Given the description of an element on the screen output the (x, y) to click on. 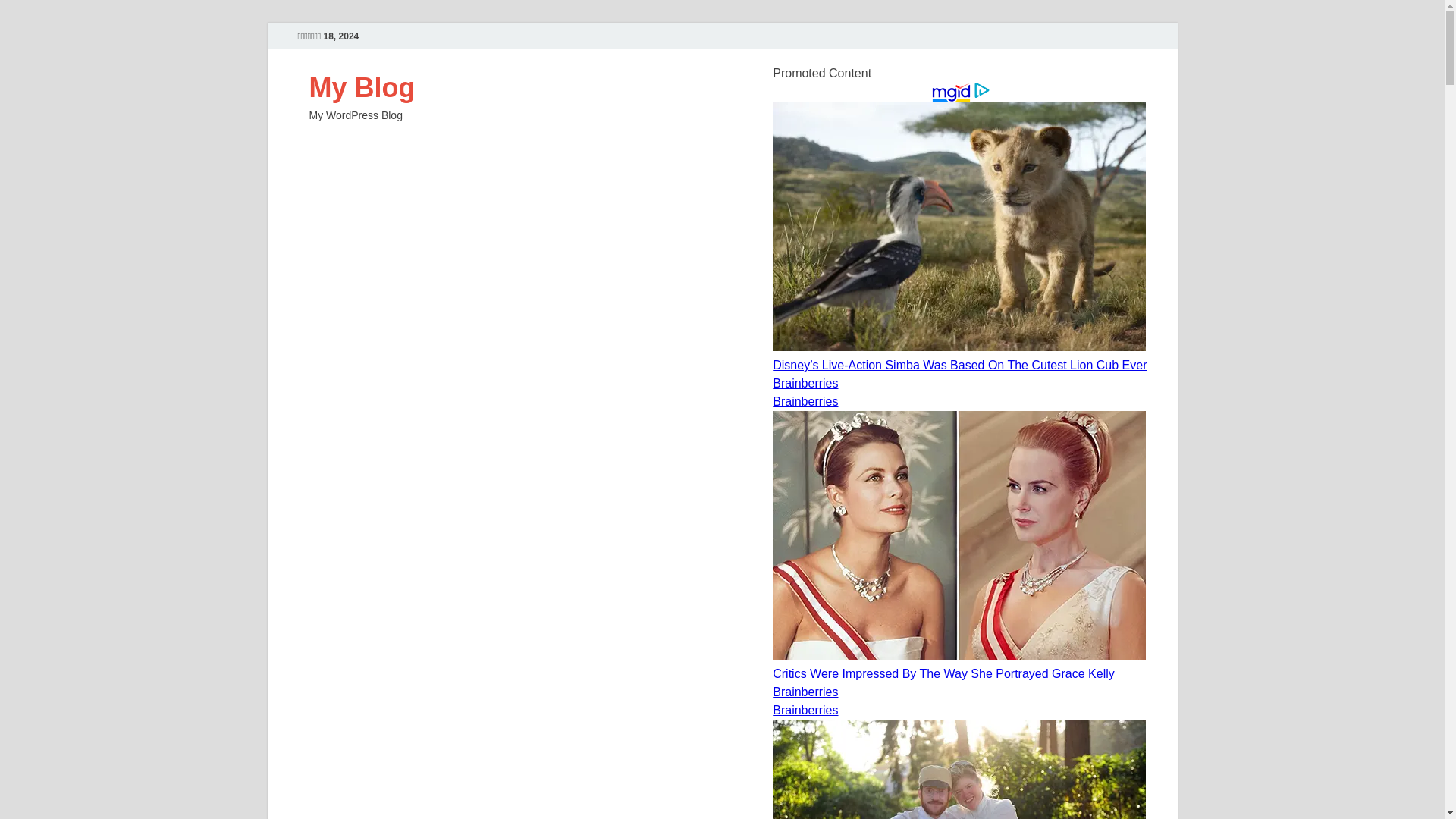
My Blog (361, 87)
